Given the description of an element on the screen output the (x, y) to click on. 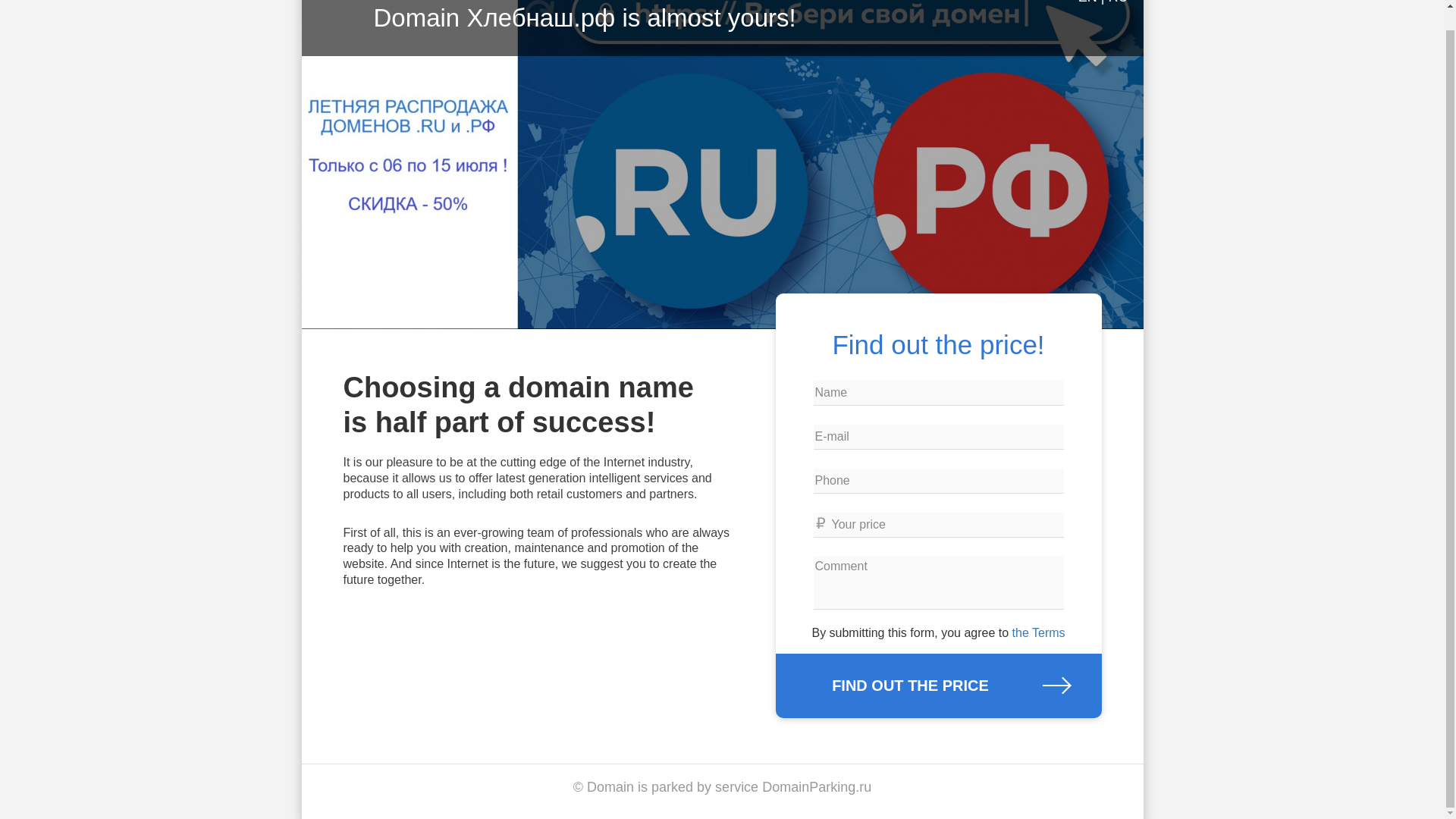
the Terms (1038, 632)
EN (1087, 2)
RU (1118, 2)
FIND OUT THE PRICE (937, 685)
